Given the description of an element on the screen output the (x, y) to click on. 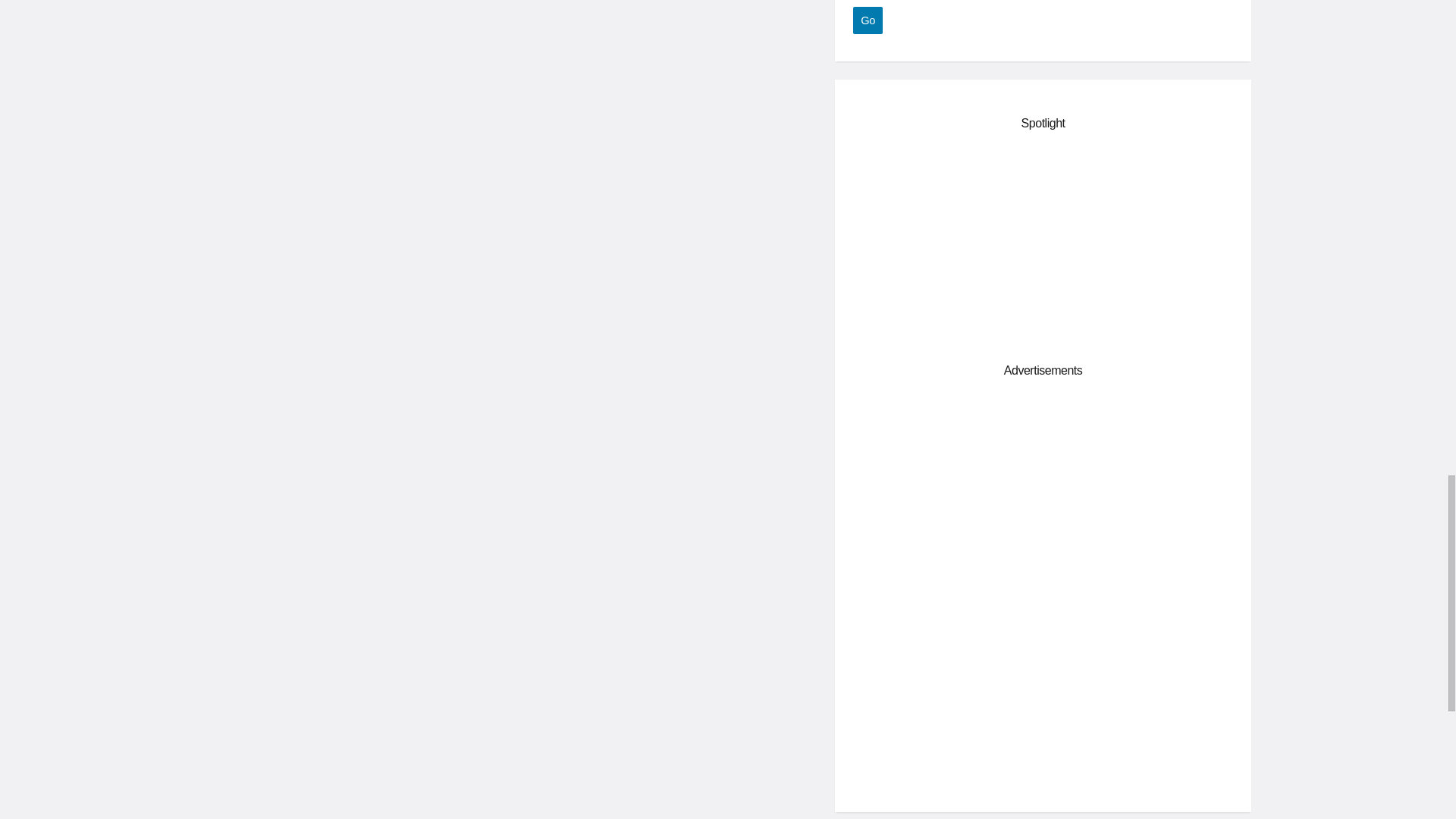
3rd party ad content (1043, 692)
Go (867, 20)
3rd party ad content (1043, 244)
Go (867, 20)
3rd party ad content (1043, 491)
